Given the description of an element on the screen output the (x, y) to click on. 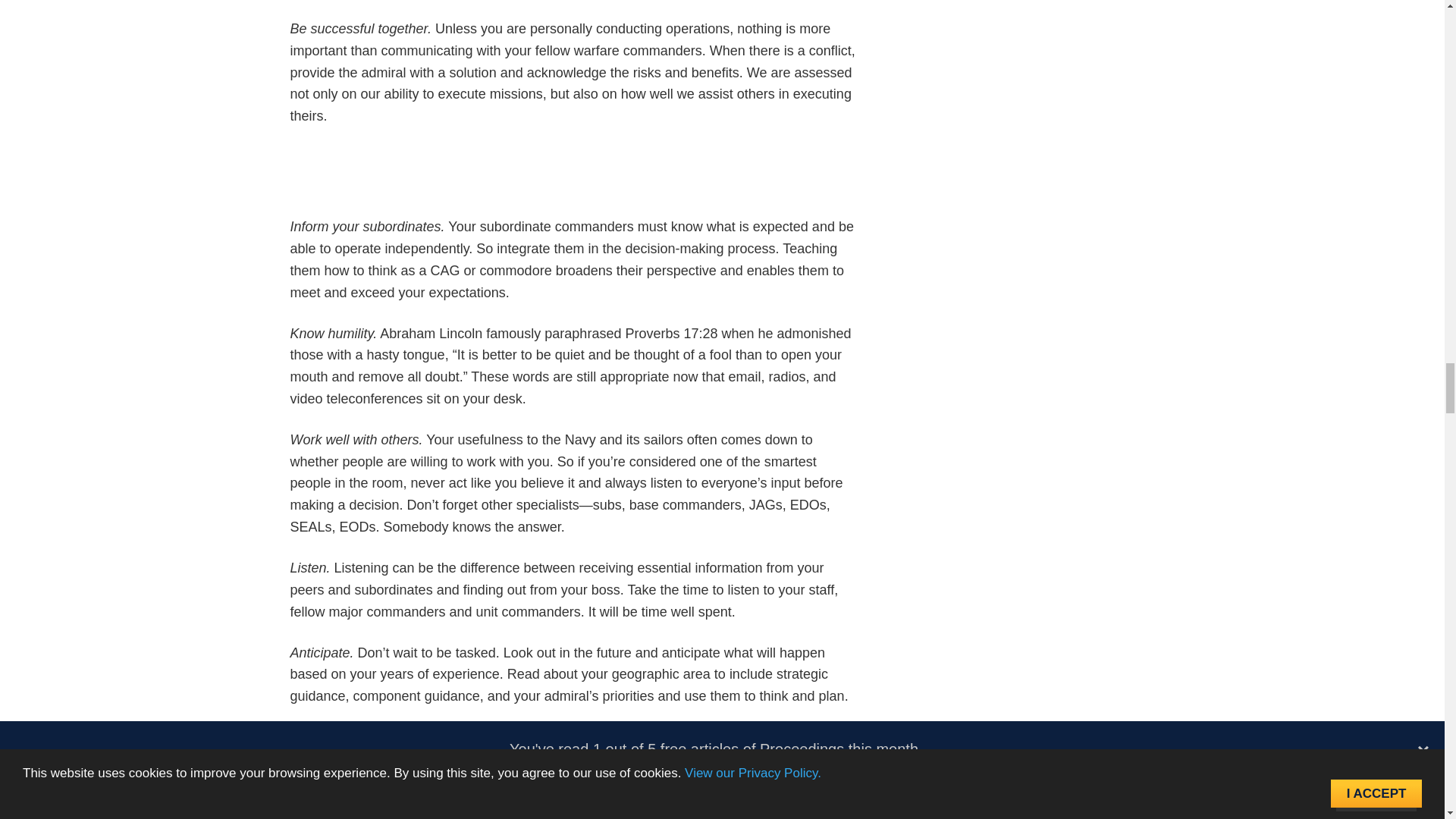
3rd party ad content (574, 180)
3rd party ad content (574, 760)
